Given the description of an element on the screen output the (x, y) to click on. 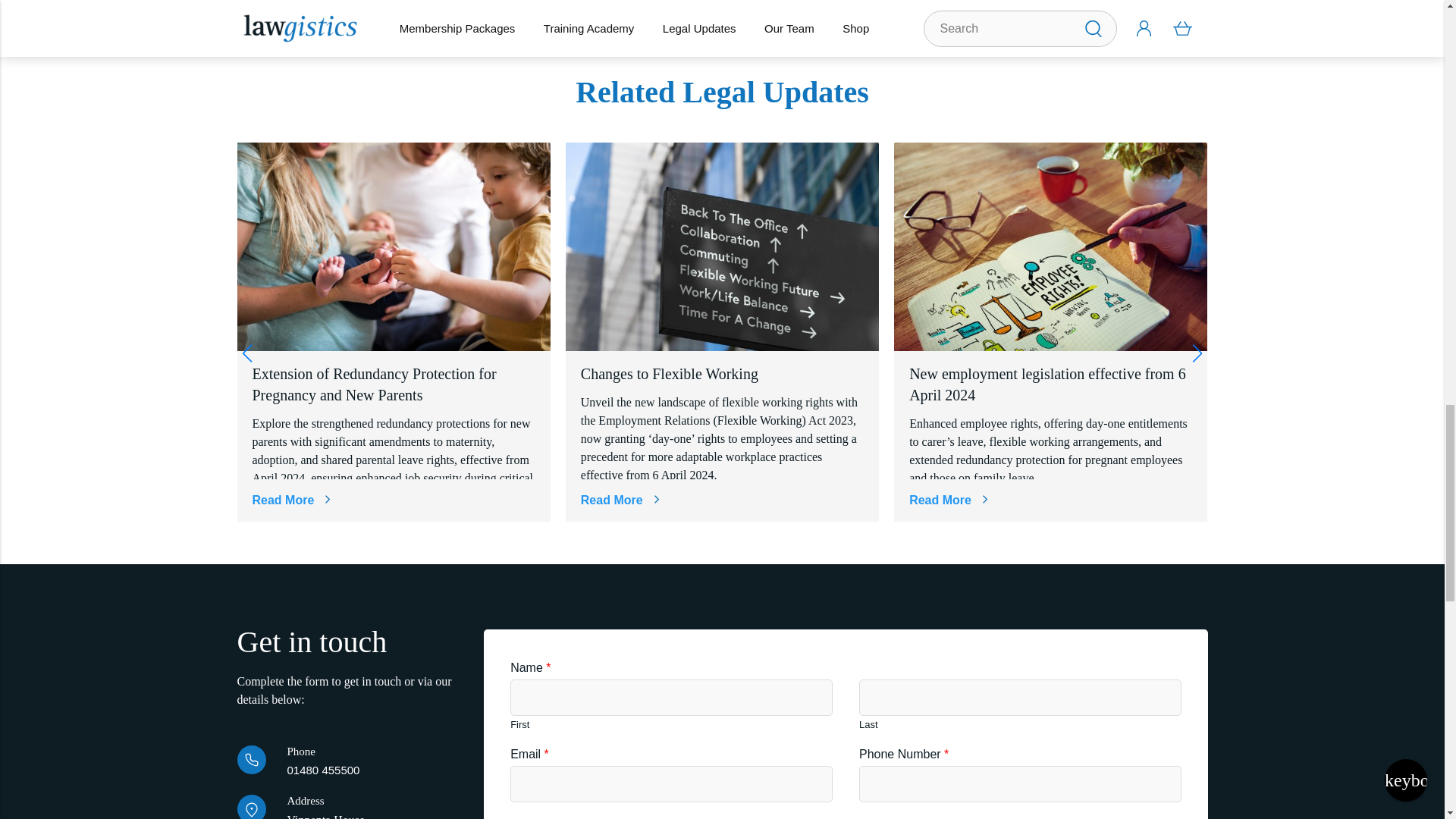
Read More (947, 499)
01480 455500 (322, 769)
Read More (619, 499)
Dennis Chapman (531, 1)
Read More (290, 499)
